Given the description of an element on the screen output the (x, y) to click on. 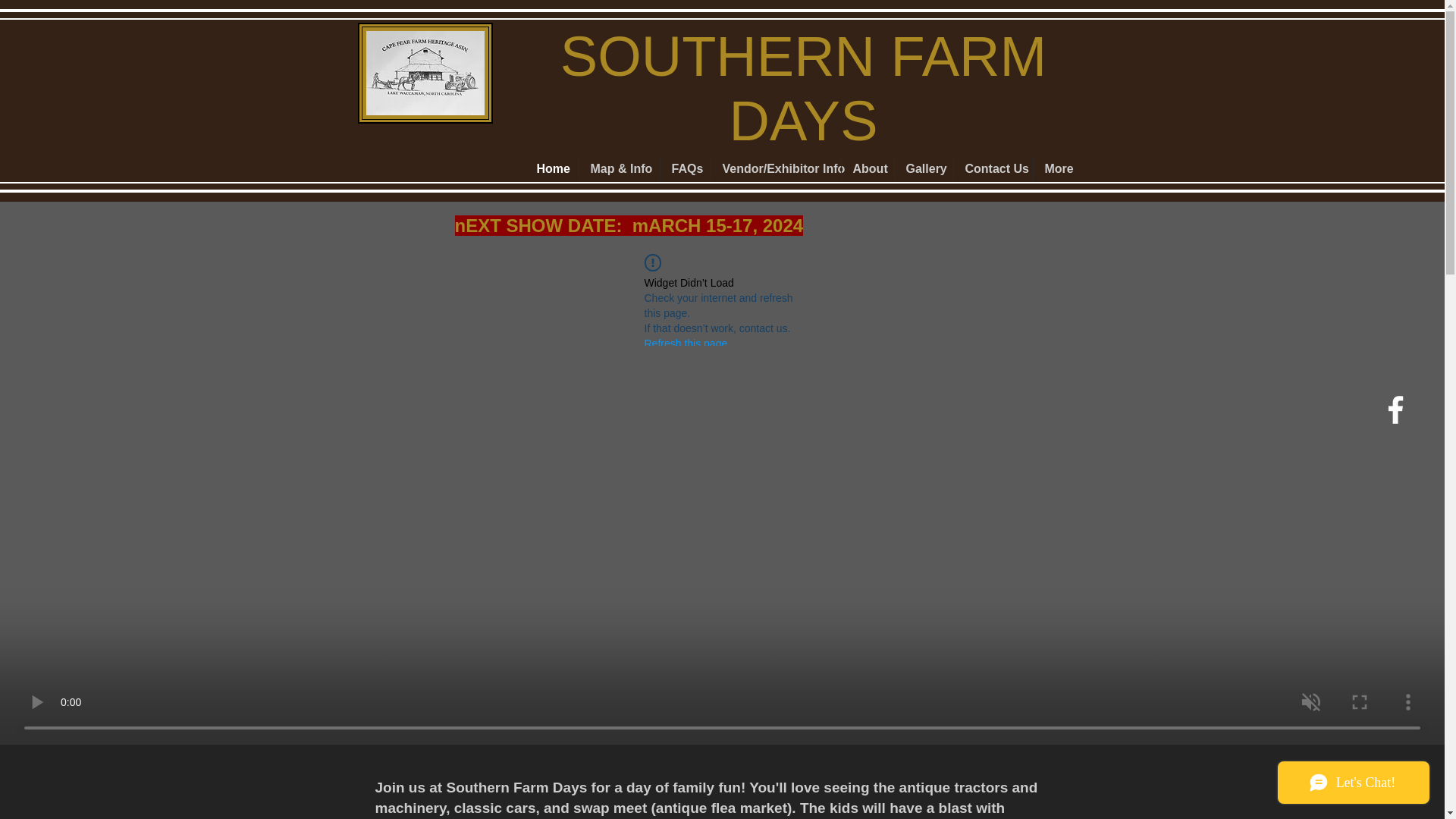
Contact Us (992, 168)
About (867, 168)
Refresh this page (686, 343)
FAQs (684, 168)
Home (551, 168)
Gallery (924, 168)
